Given the description of an element on the screen output the (x, y) to click on. 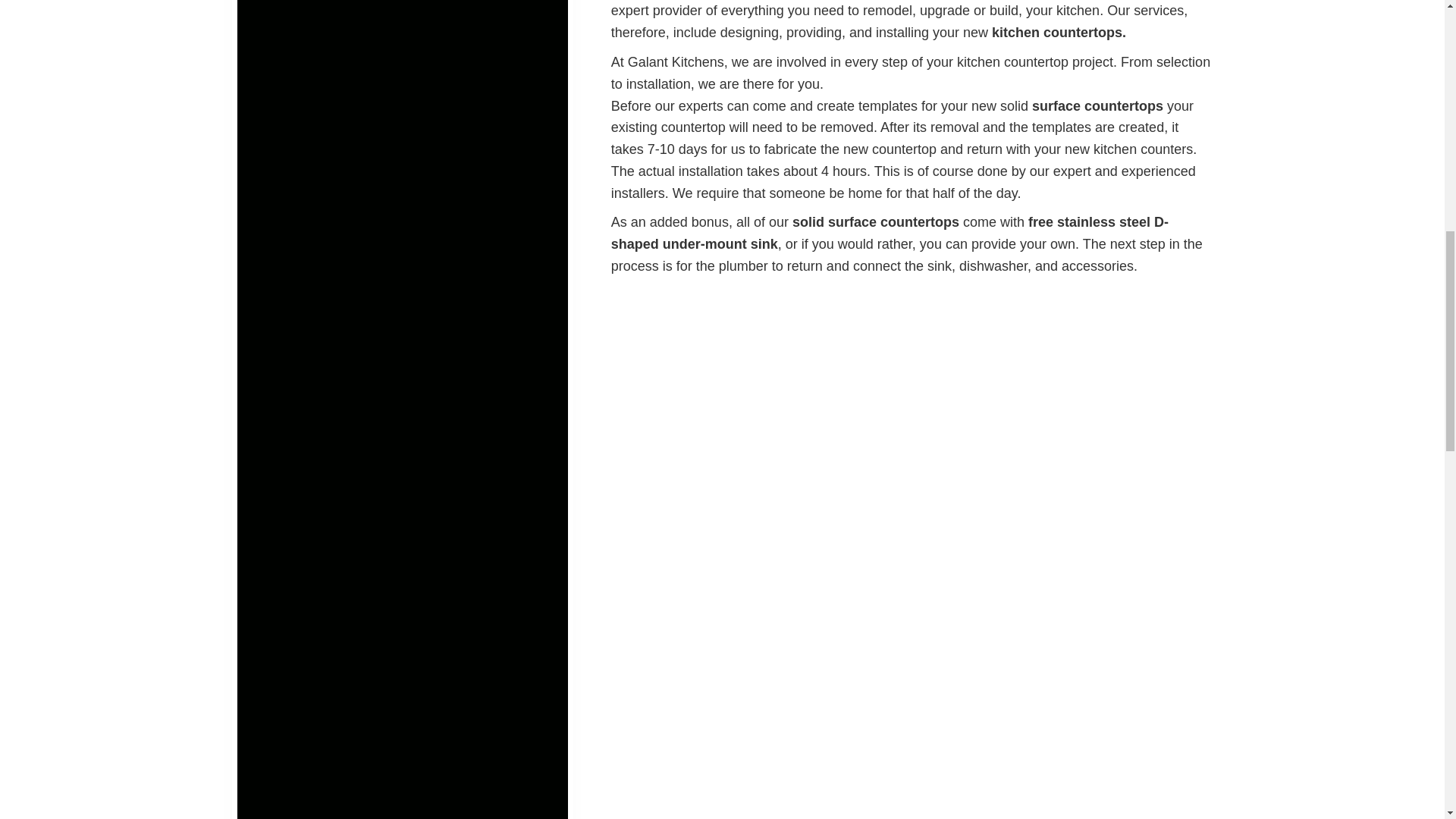
Countertops 3 (401, 241)
Water Fall Canbria Britanica (401, 30)
Countertop Motion (401, 786)
D-Shaded MSI Quartz (401, 572)
